Given the description of an element on the screen output the (x, y) to click on. 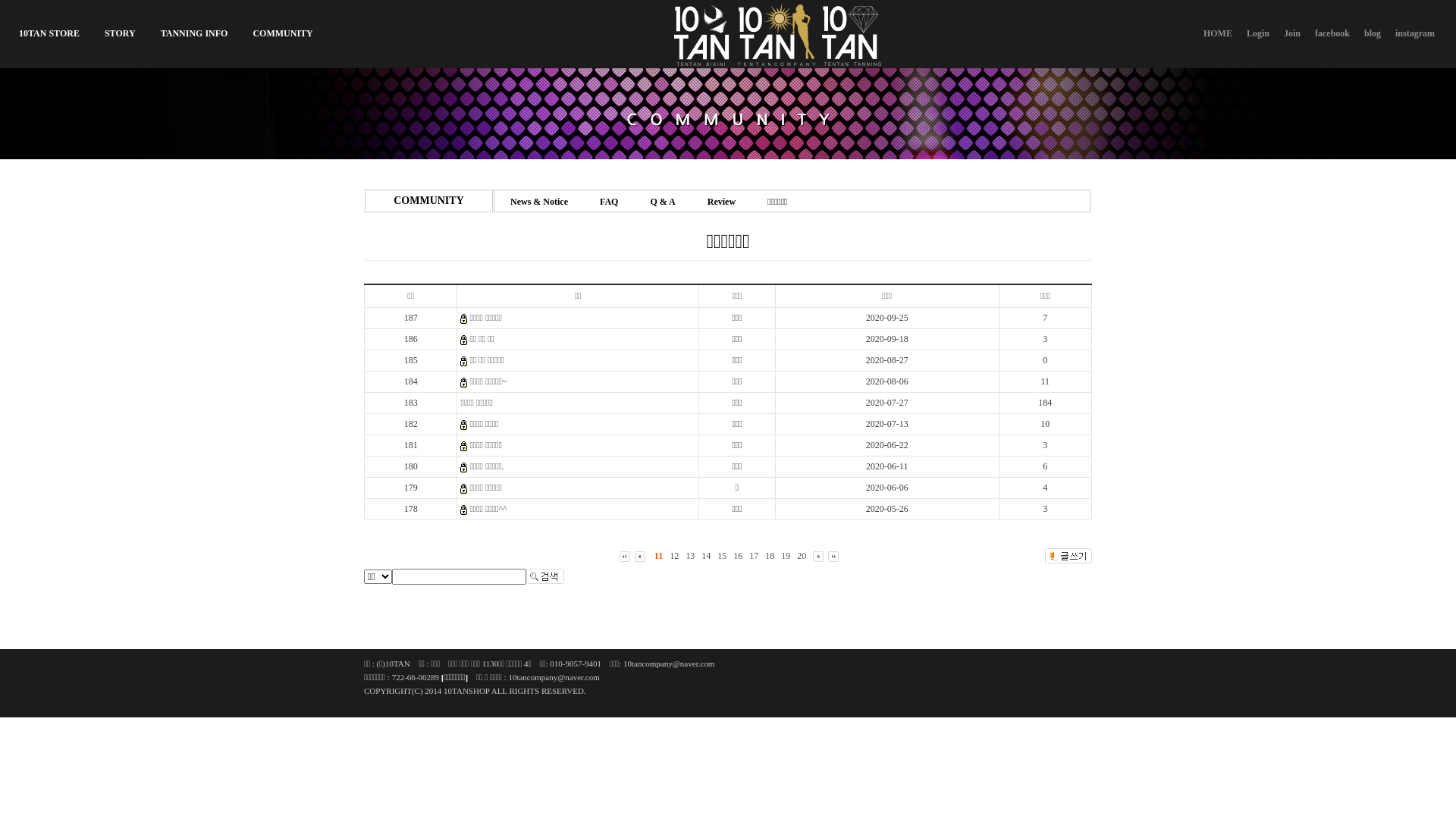
20 Element type: text (801, 555)
Review Element type: text (721, 201)
17 Element type: text (753, 555)
News & Notice Element type: text (539, 201)
Join Element type: text (1291, 33)
facebook Element type: text (1331, 33)
input Element type: hover (459, 576)
19 Element type: text (785, 555)
14 Element type: text (705, 555)
STORY Element type: text (119, 33)
Login Element type: text (1257, 33)
FAQ Element type: text (608, 201)
blog Element type: text (1372, 33)
12 Element type: text (673, 555)
HOME Element type: text (1217, 33)
COMMUNITY Element type: text (282, 33)
Q & A Element type: text (662, 201)
16 Element type: text (737, 555)
18 Element type: text (769, 555)
input Element type: hover (545, 575)
10TAN STORE Element type: text (48, 33)
13 Element type: text (689, 555)
instagram Element type: text (1414, 33)
15 Element type: text (721, 555)
TANNING INFO Element type: text (194, 33)
